Given the description of an element on the screen output the (x, y) to click on. 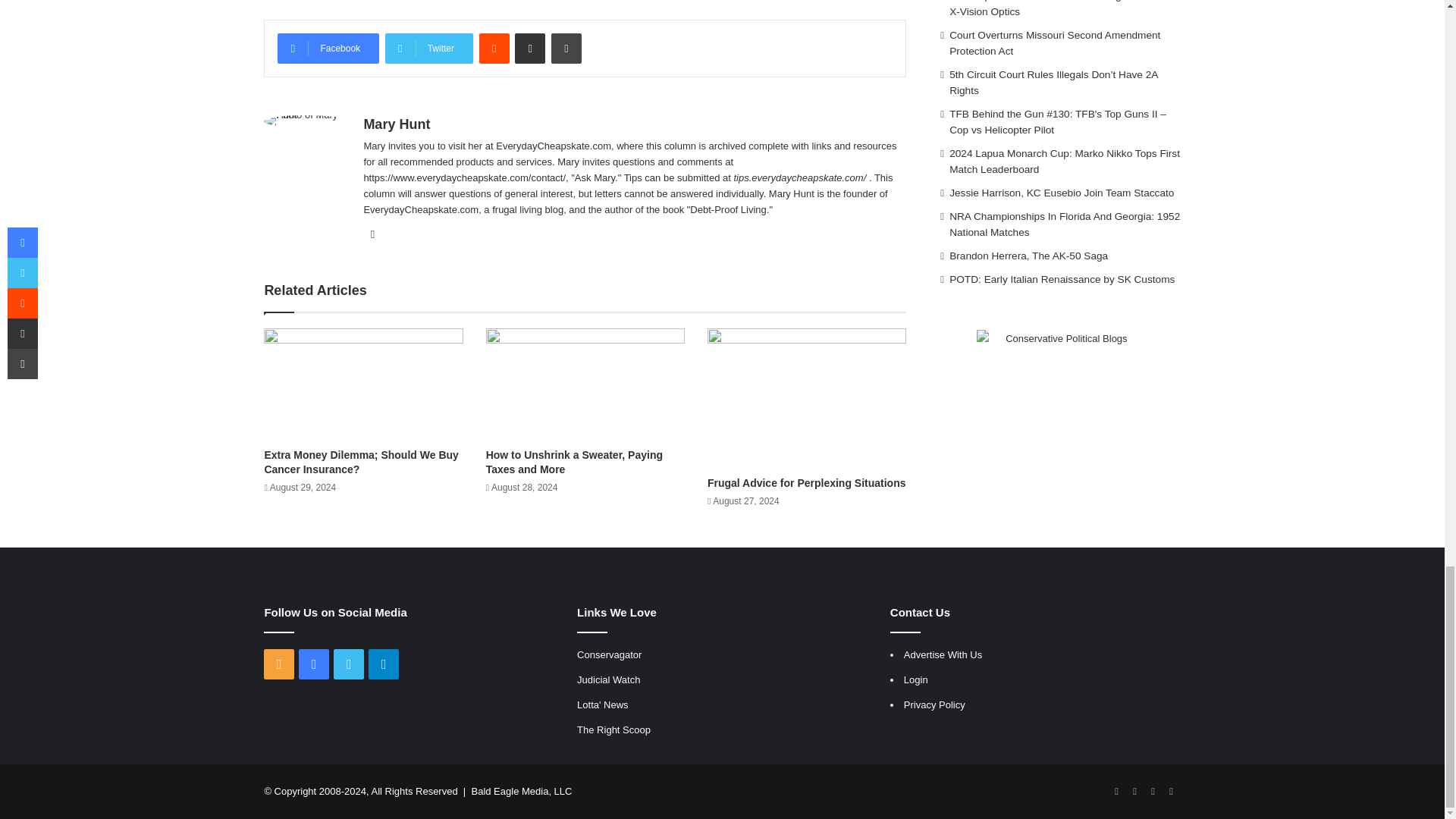
Share via Email (529, 48)
Reddit (494, 48)
Twitter (429, 48)
Facebook (328, 48)
